Given the description of an element on the screen output the (x, y) to click on. 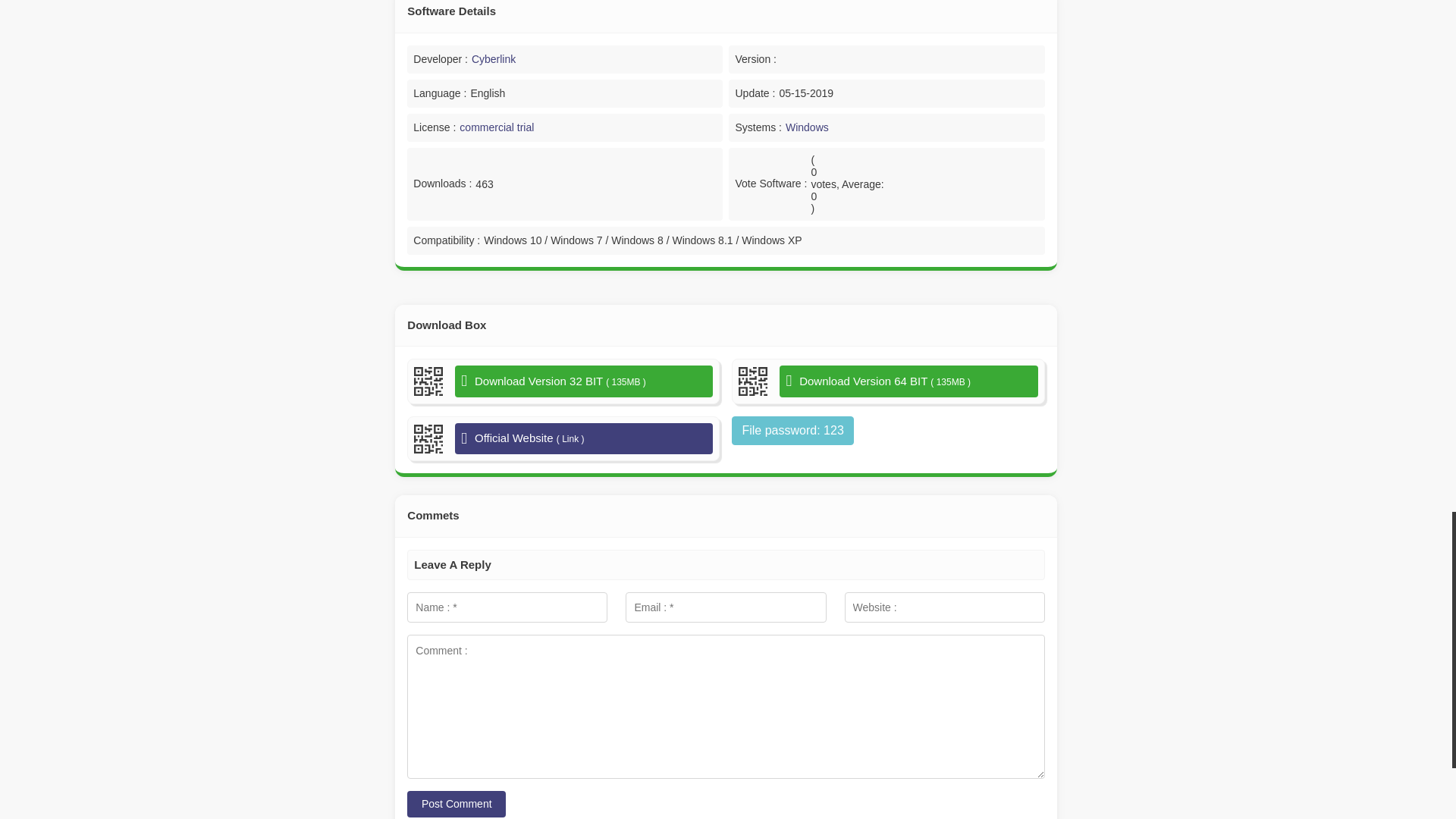
Download Version 64 BIT (907, 381)
commercial trial (497, 127)
Windows (807, 127)
Post Comment (456, 804)
Download Version 32 BIT (583, 381)
Official Website (583, 439)
